Given the description of an element on the screen output the (x, y) to click on. 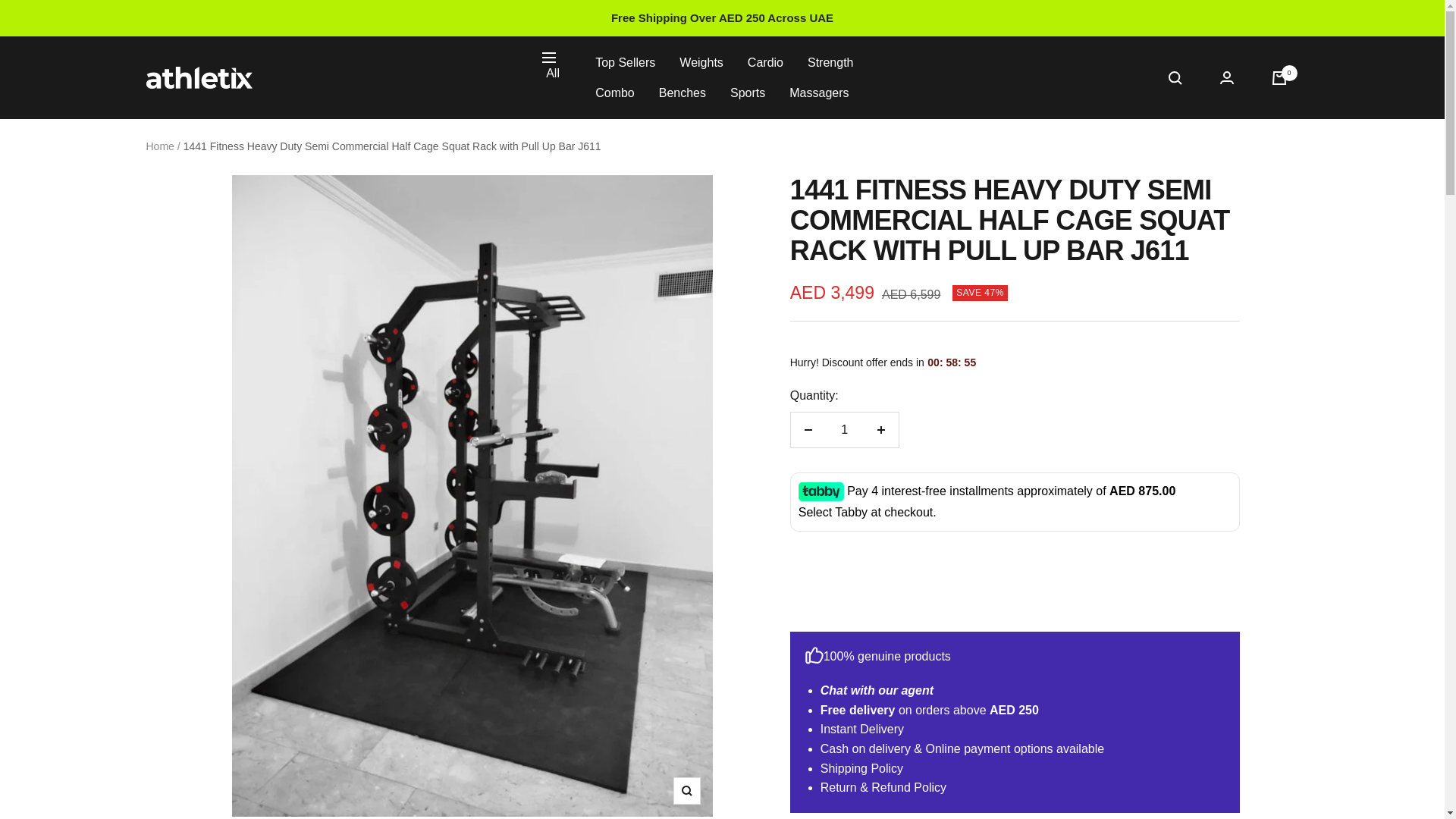
0 (1279, 78)
Combo (614, 93)
Sports (747, 93)
Cardio (765, 62)
Zoom (686, 790)
Top Sellers (625, 62)
Massagers (818, 93)
Home (159, 146)
Benches (682, 93)
Weights (701, 62)
